Given the description of an element on the screen output the (x, y) to click on. 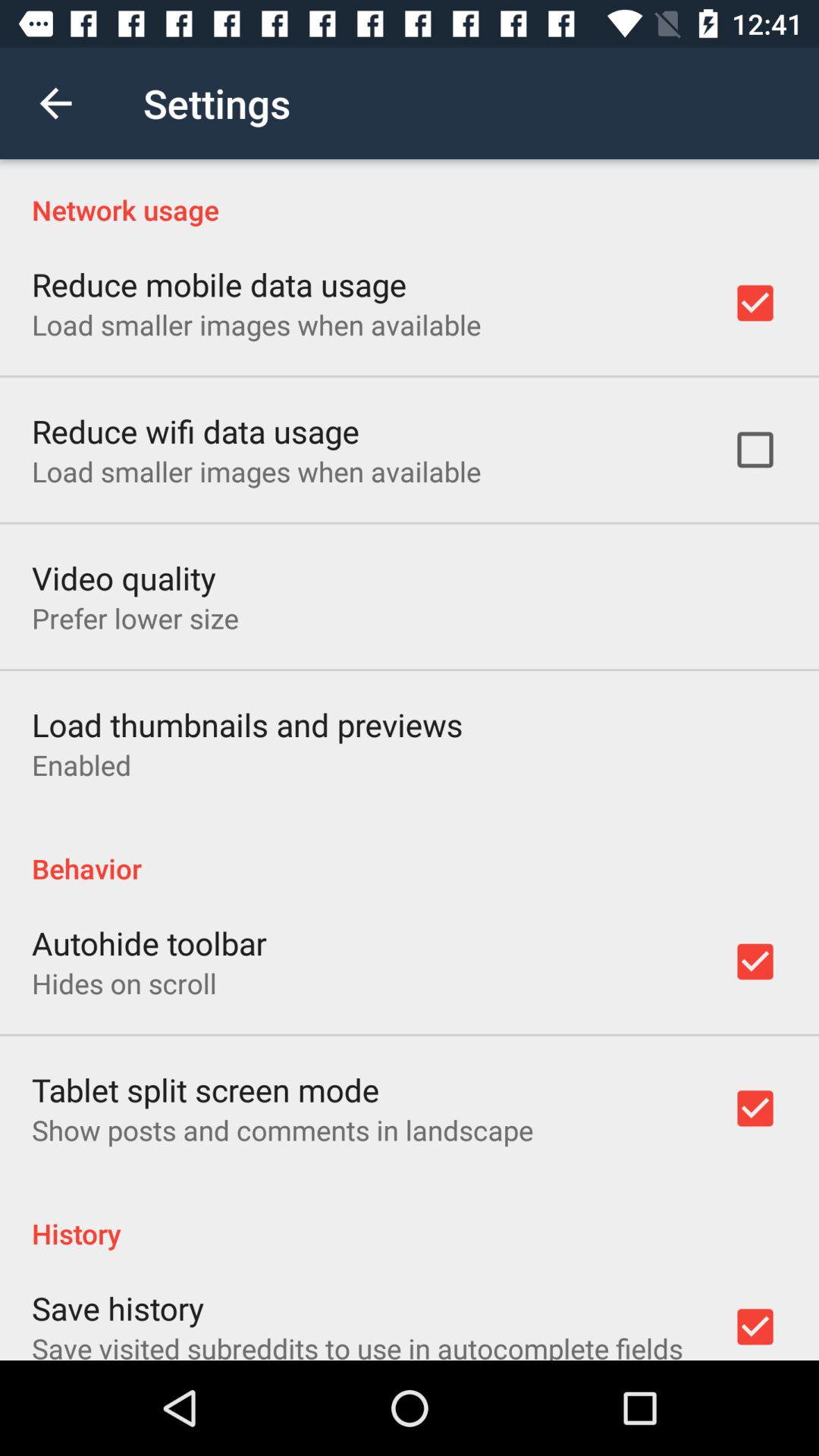
turn on the item below load smaller images (123, 577)
